Given the description of an element on the screen output the (x, y) to click on. 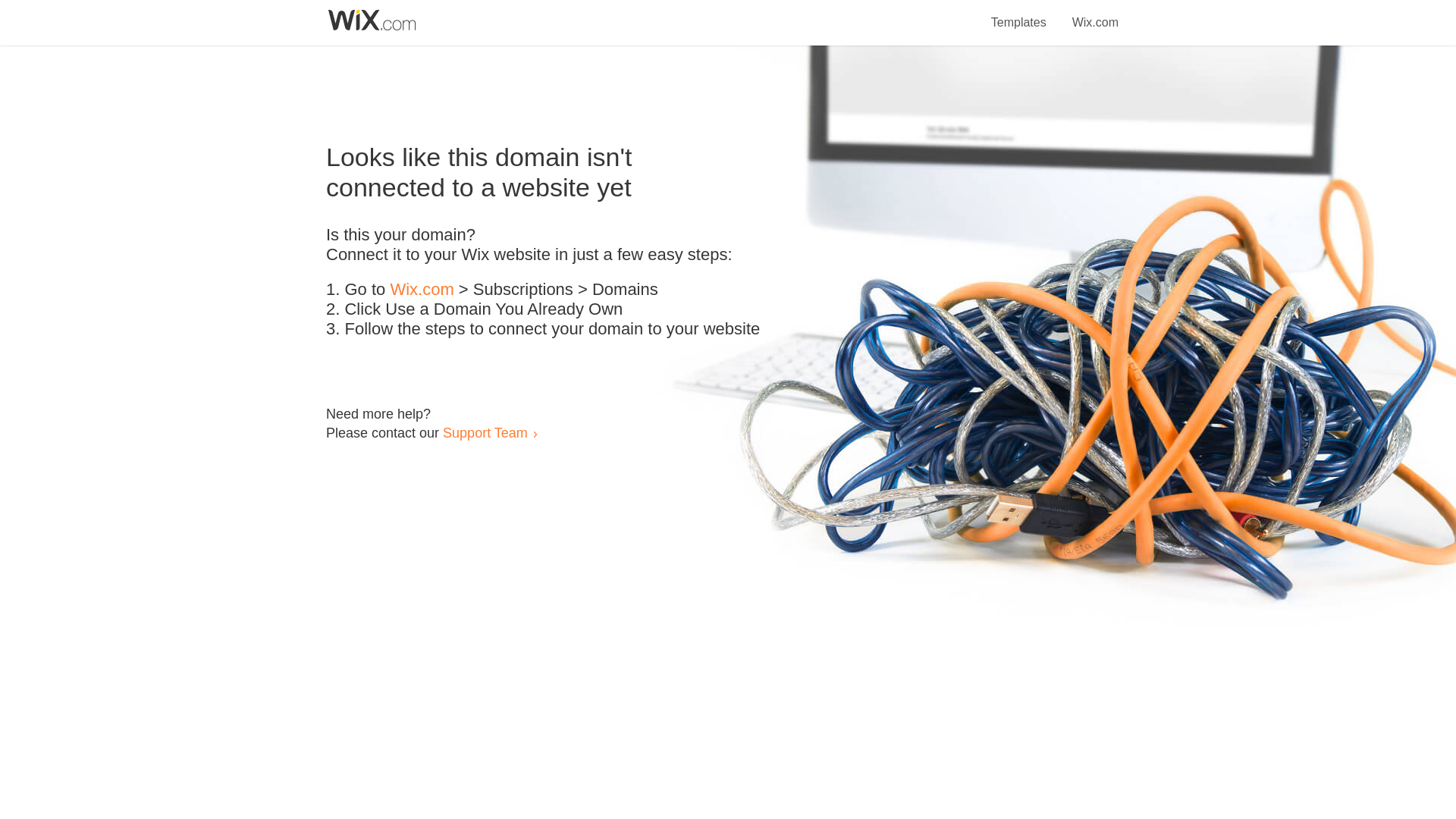
Wix.com (421, 289)
Templates (1018, 14)
Wix.com (1095, 14)
Support Team (484, 432)
